Given the description of an element on the screen output the (x, y) to click on. 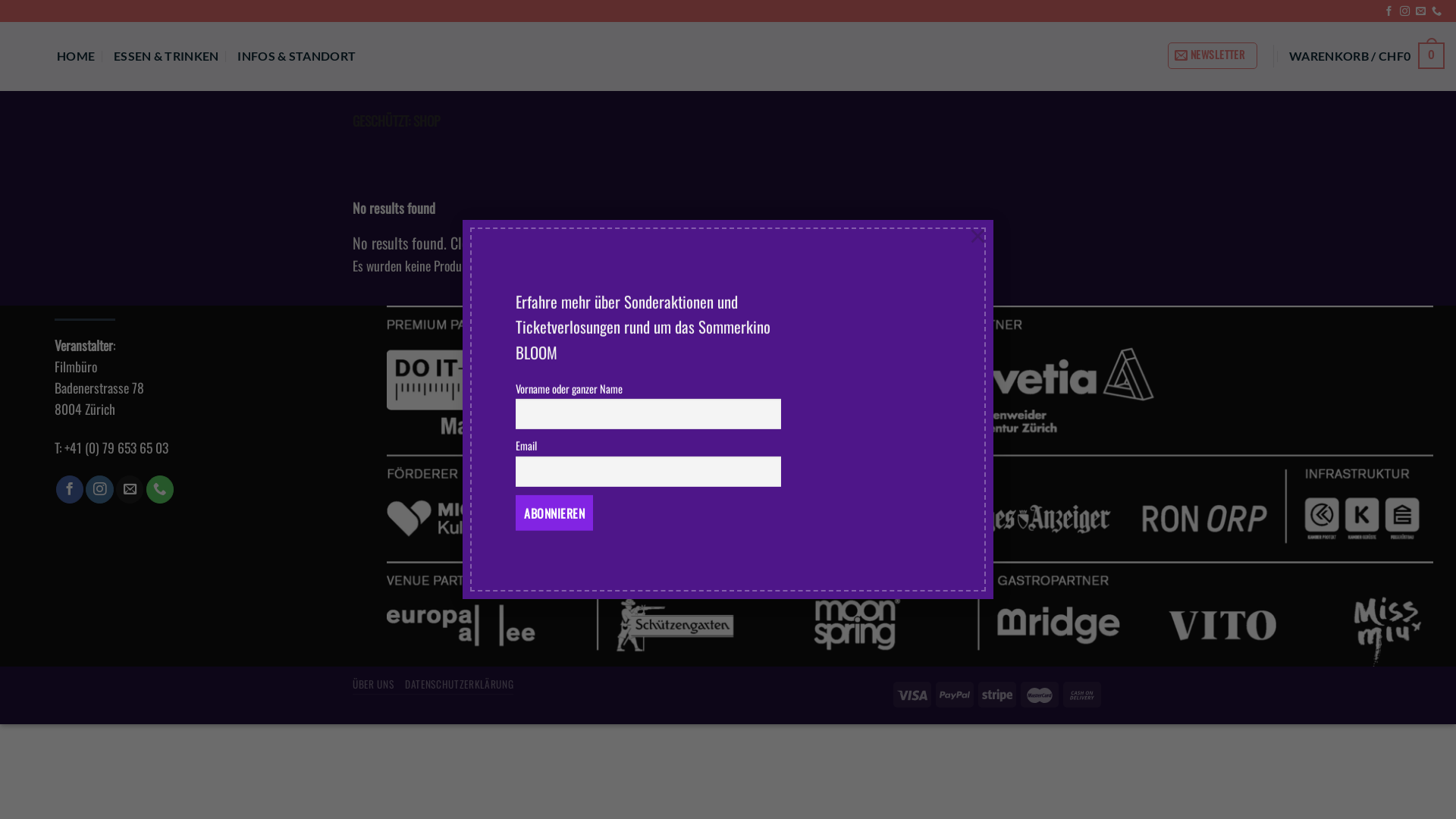
Follow on Instagram Element type: hover (98, 489)
Send us an email Element type: hover (1420, 11)
Follow on Facebook Element type: hover (69, 489)
WARENKORB / CHF0
0 Element type: text (1366, 55)
HOME Element type: text (75, 55)
Follow on Instagram Element type: hover (1404, 11)
Abonnieren Element type: text (554, 512)
INFOS & STANDORT Element type: text (296, 55)
Follow on Facebook Element type: hover (1388, 11)
NEWSLETTER Element type: text (1212, 55)
ESSEN & TRINKEN Element type: text (166, 55)
Call us Element type: hover (159, 489)
Clear filters Element type: text (482, 242)
Send us an email Element type: hover (129, 489)
Call us Element type: hover (1436, 11)
